Given the description of an element on the screen output the (x, y) to click on. 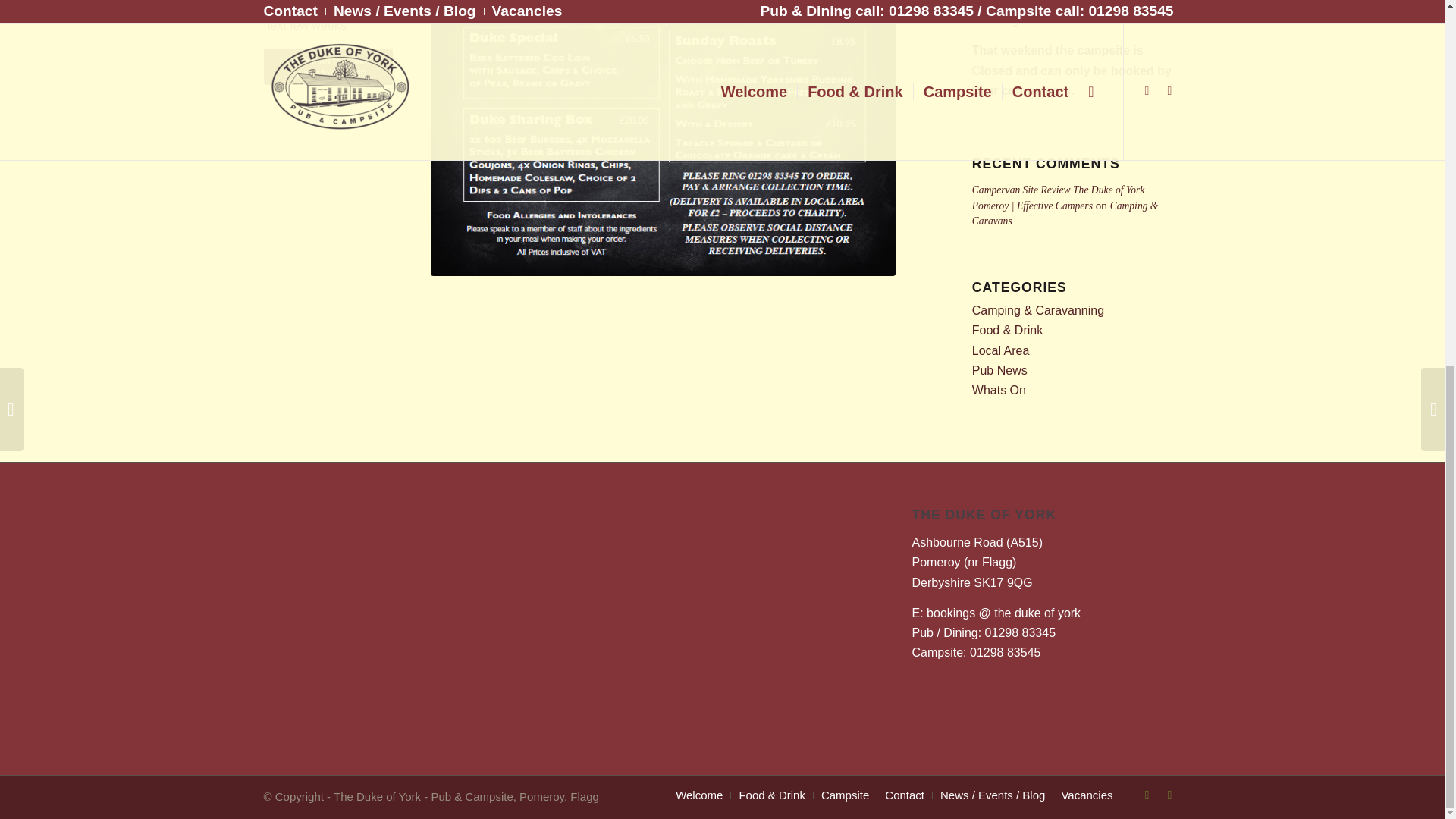
Pub News (999, 369)
Facebook (1146, 793)
Local Area (1000, 350)
Duke of York takeaway menu (662, 137)
Mail (1169, 793)
Whats On (999, 390)
